Given the description of an element on the screen output the (x, y) to click on. 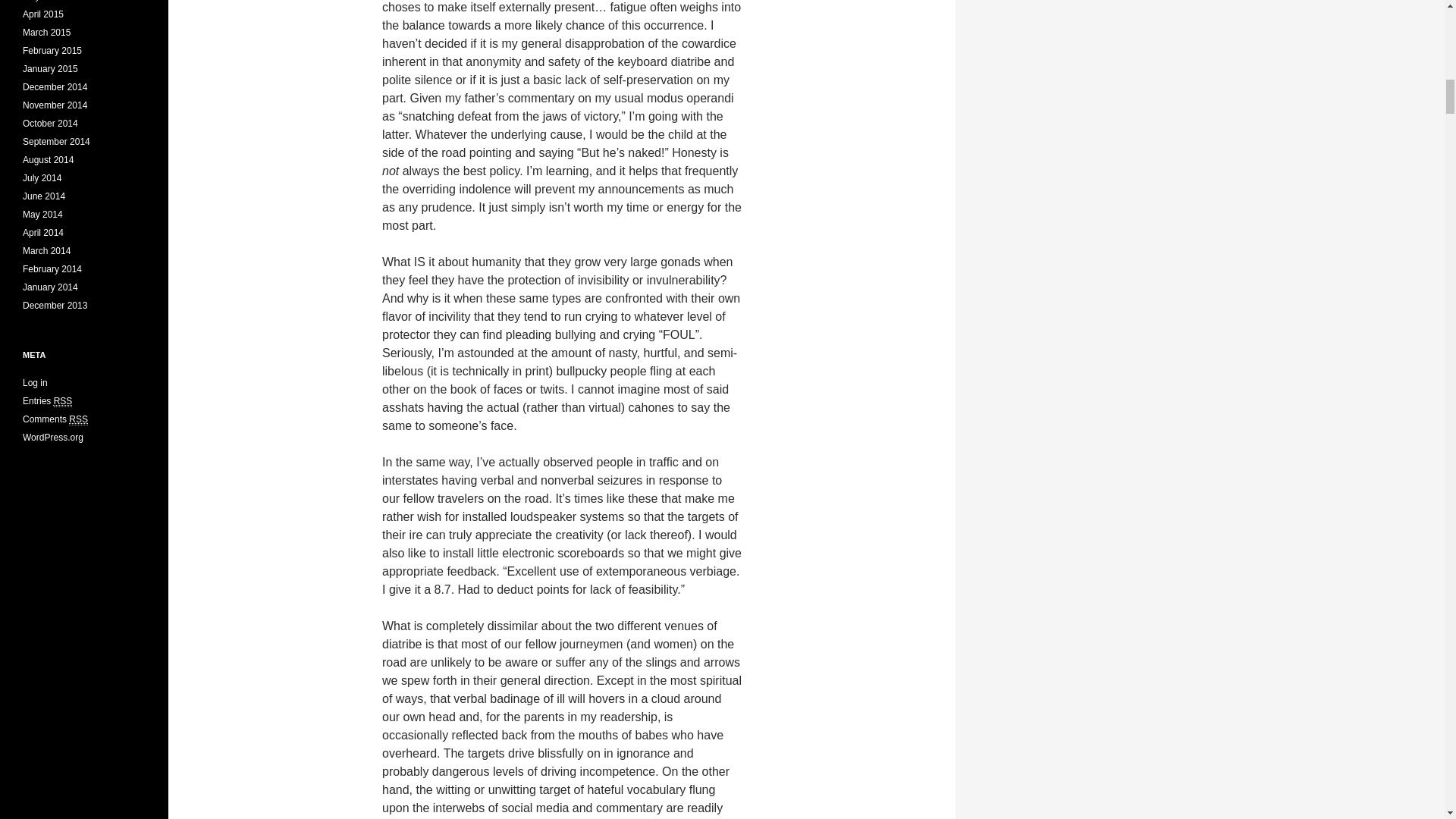
Really Simple Syndication (77, 419)
Really Simple Syndication (62, 401)
